Given the description of an element on the screen output the (x, y) to click on. 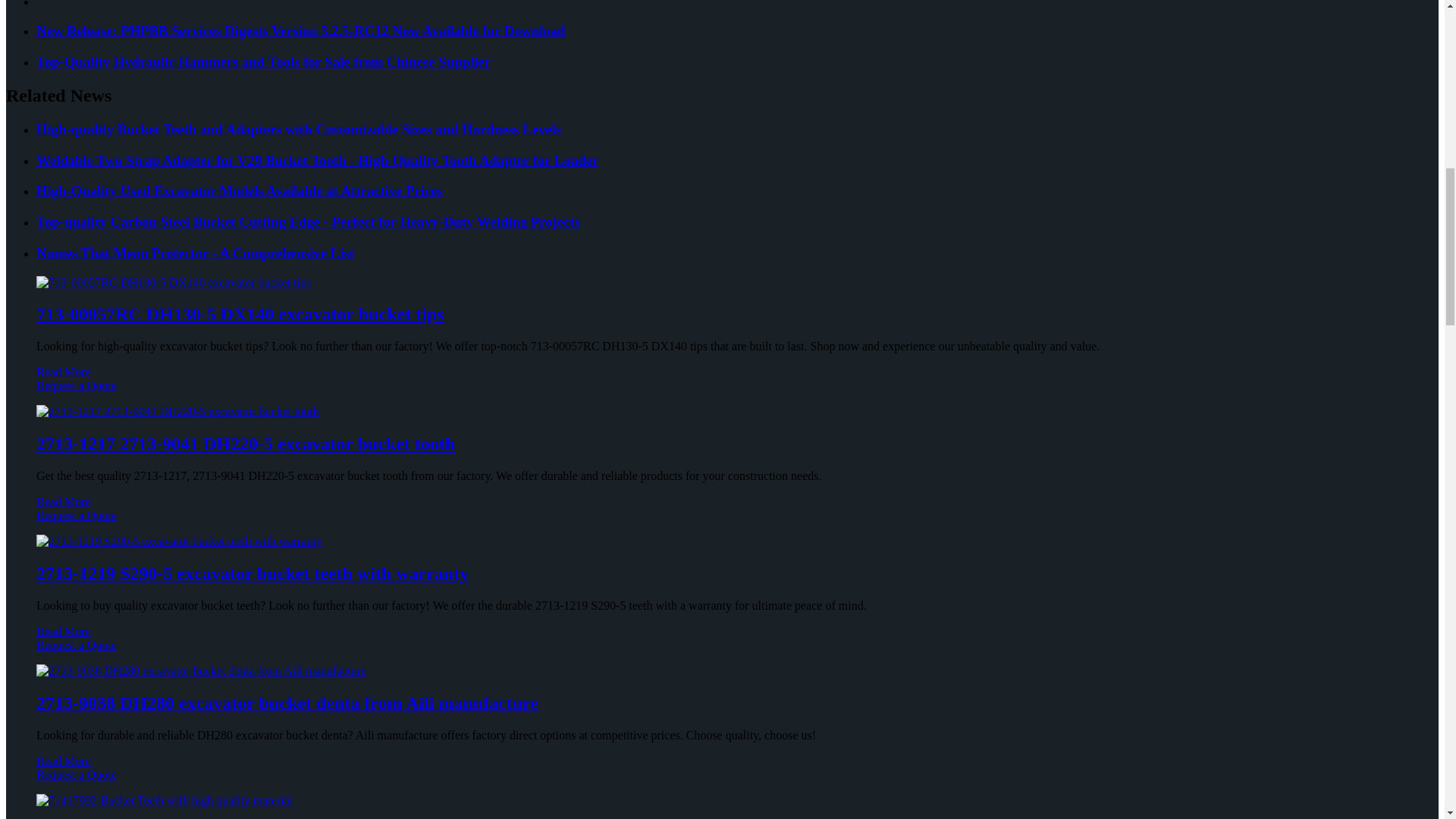
Request a Quote (721, 392)
713-00057RC DH130-5 DX140 excavator bucket tips (240, 313)
Read More (63, 371)
